Given the description of an element on the screen output the (x, y) to click on. 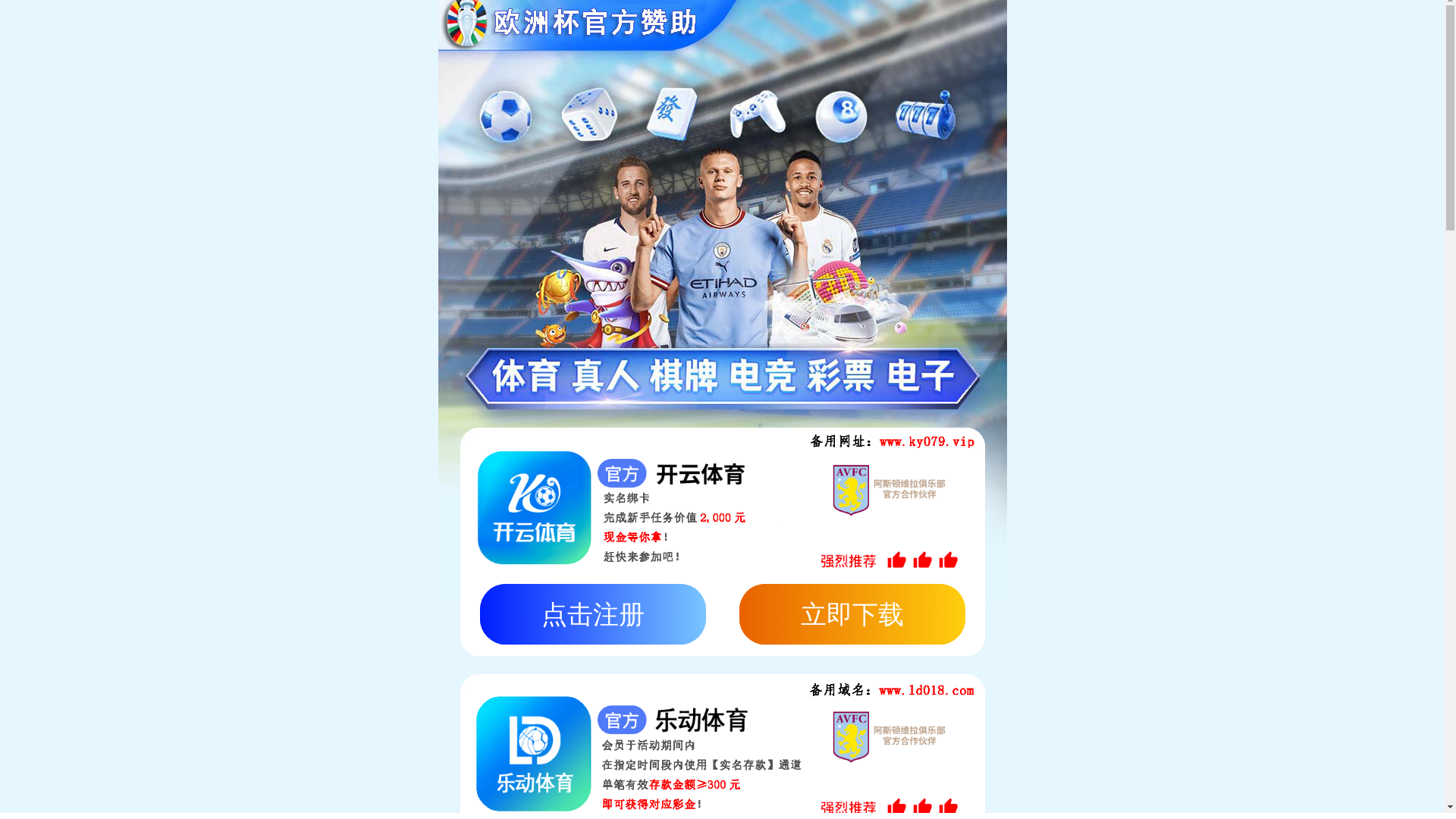
Robot transmission technology (487, 335)
News (1053, 27)
CN (1400, 24)
TOP (1201, 333)
Institute (779, 27)
Mechanical mixing equipment technology (702, 334)
Solution (643, 27)
Thickener Technology (897, 335)
Solar energy transmission technology (280, 335)
Electrolytic aluminum equipment (1071, 335)
